Given the description of an element on the screen output the (x, y) to click on. 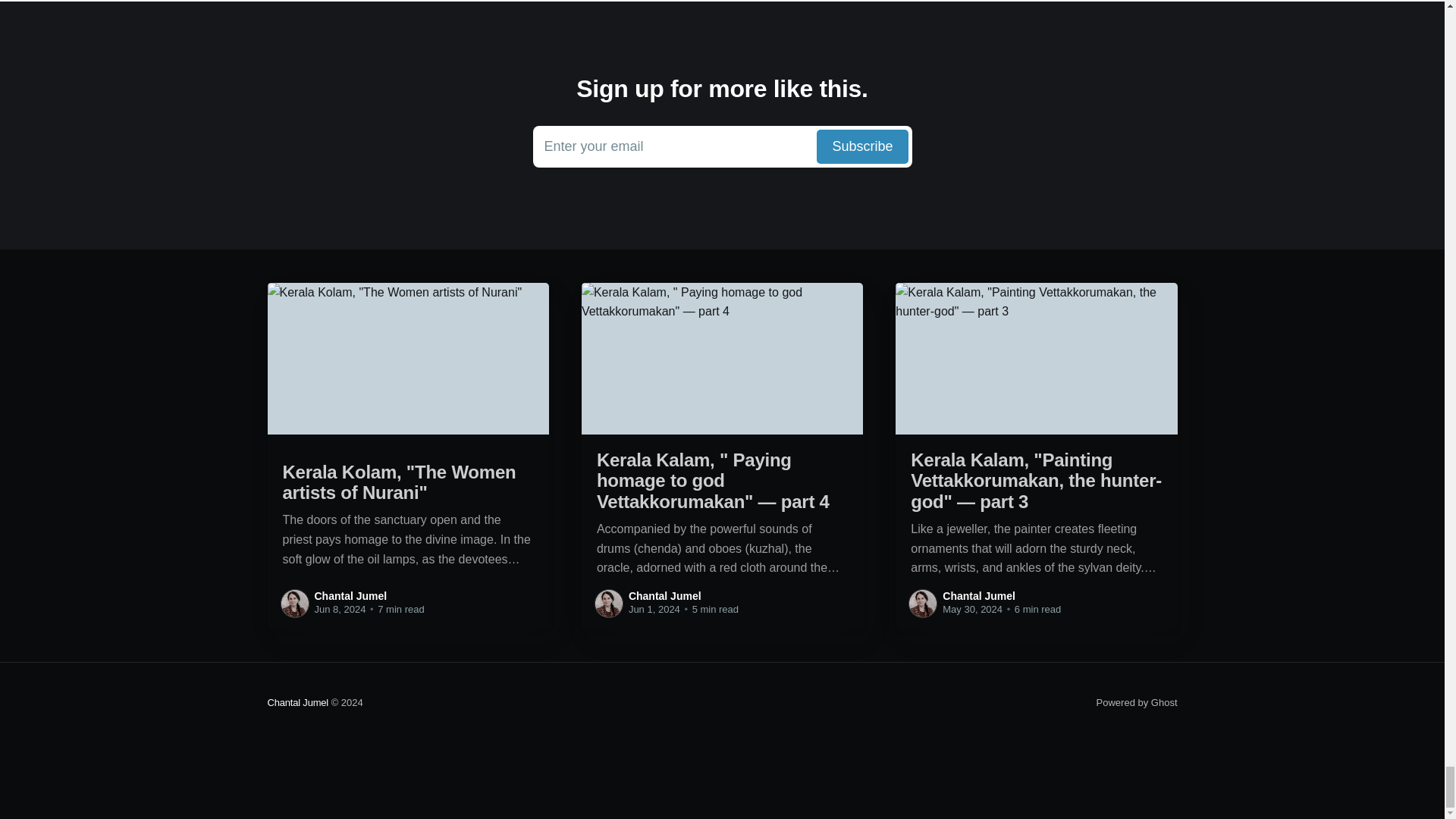
Chantal Jumel (664, 595)
Chantal Jumel (350, 595)
